Given the description of an element on the screen output the (x, y) to click on. 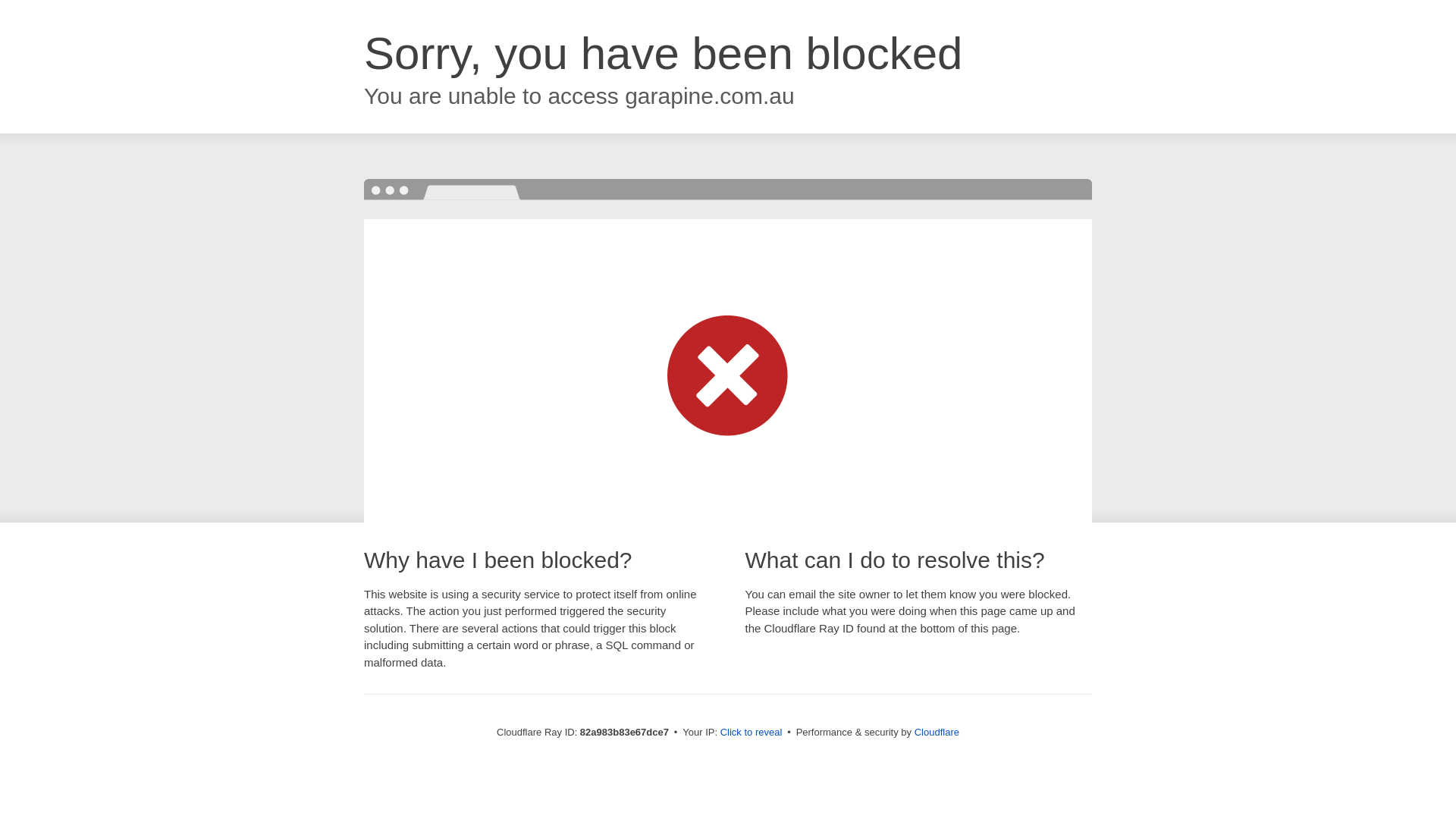
Cloudflare Element type: text (936, 731)
Click to reveal Element type: text (751, 732)
